Given the description of an element on the screen output the (x, y) to click on. 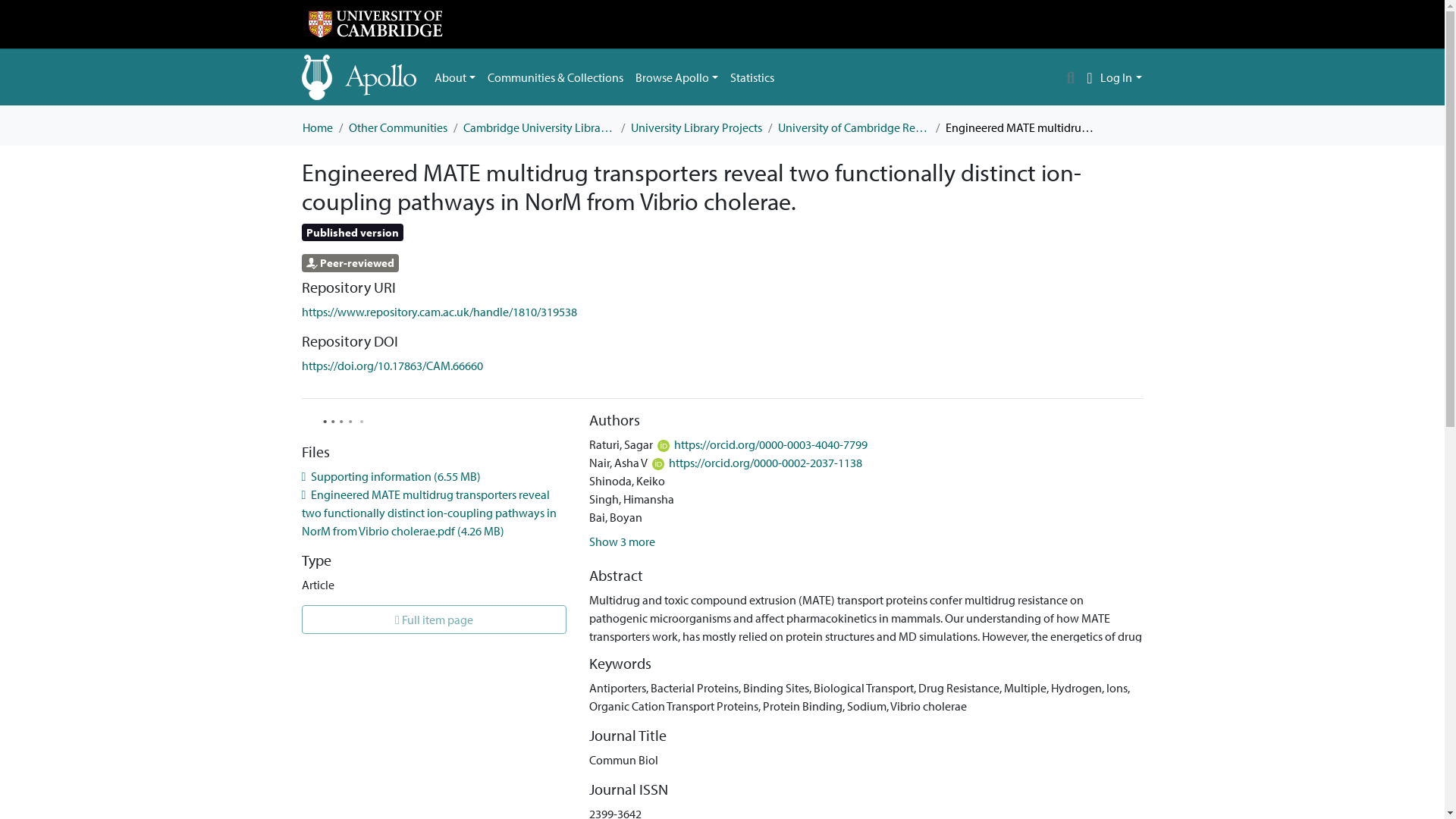
University Library Projects (695, 126)
Full item page (434, 619)
About (454, 77)
Statistics (751, 77)
Show 3 more (622, 540)
Cambridge University Libraries (538, 126)
Search (1070, 76)
Statistics (751, 77)
Browse Apollo (675, 77)
Other Communities (397, 126)
